Given the description of an element on the screen output the (x, y) to click on. 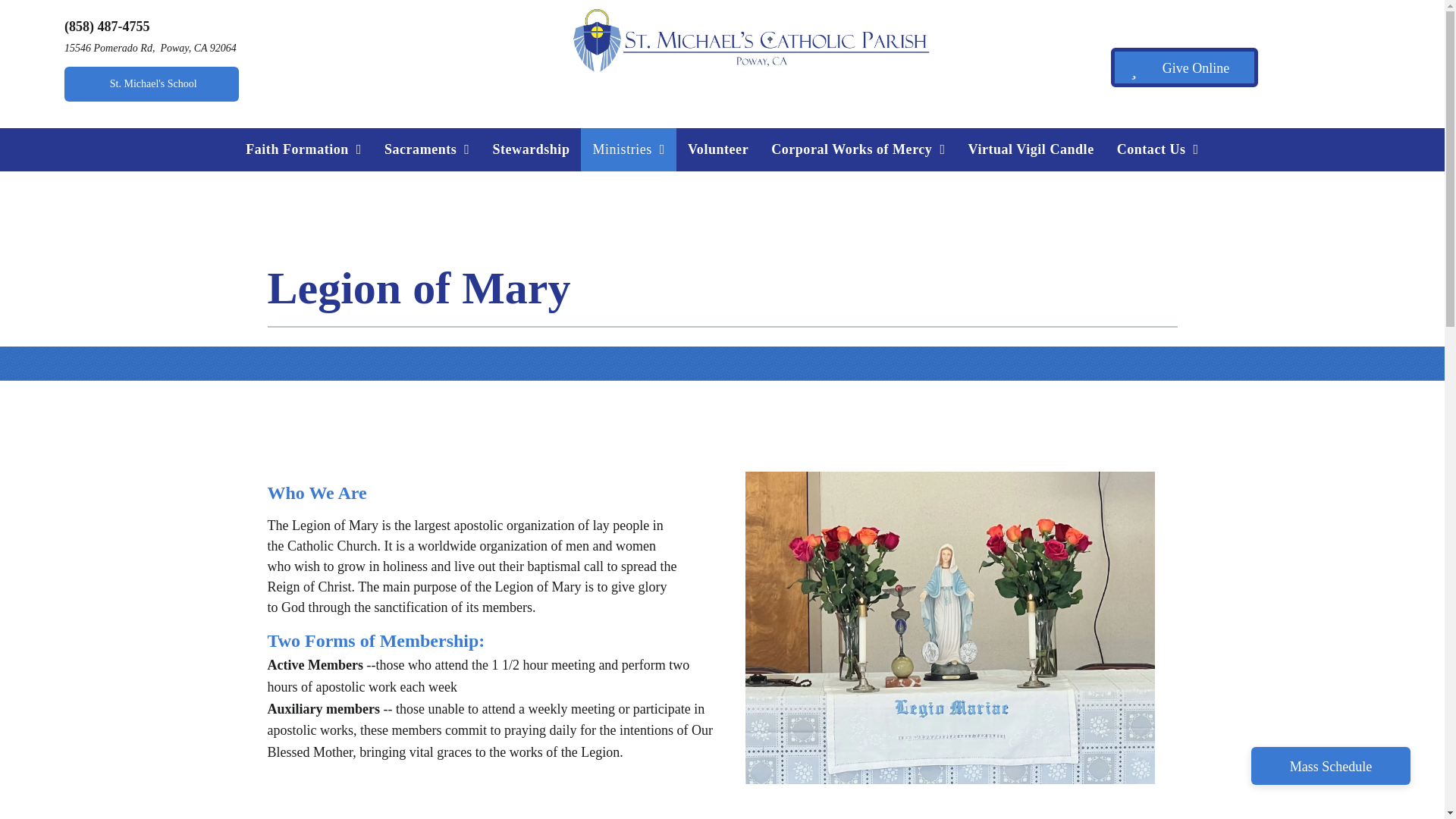
Faith Formation (303, 149)
Sacraments (426, 149)
Give Online (1183, 66)
Ministries (628, 149)
Stewardship (530, 149)
Corporal Works of Mercy (858, 149)
St. Michael's School (151, 83)
Volunteer (718, 149)
